Given the description of an element on the screen output the (x, y) to click on. 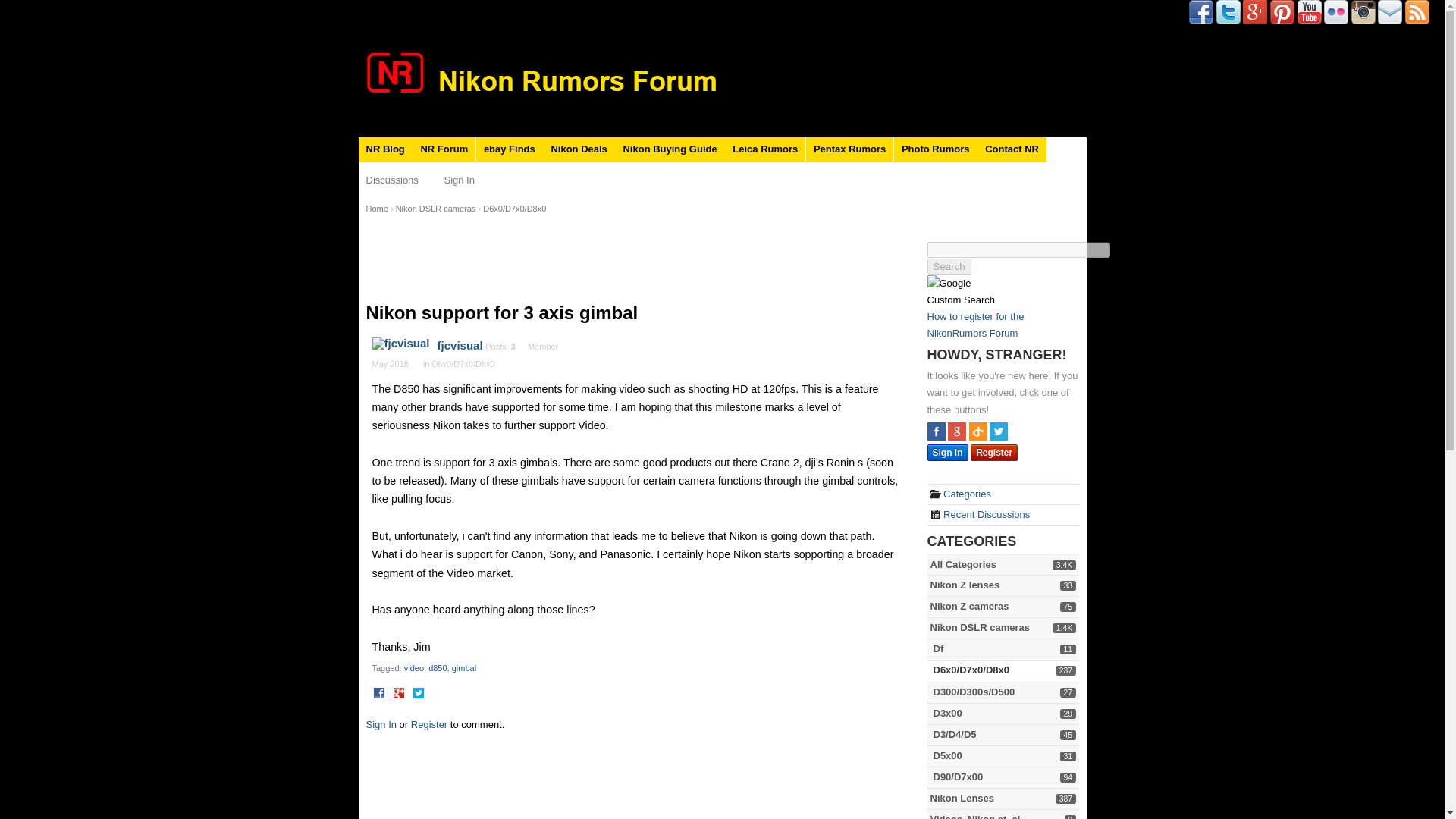
NR Forum (444, 148)
Pentax Rumors (849, 148)
33 discussions (1068, 585)
Home (376, 207)
Recent Discussions (979, 514)
Sign In (459, 179)
Contact NR (1011, 148)
Discussions (391, 179)
Leica Rumors (765, 148)
Search (948, 266)
NR Blog (385, 148)
Categories (960, 493)
Nikon Buying Guide (668, 148)
Sign In with Facebook (935, 431)
Leica Rumors (765, 148)
